Given the description of an element on the screen output the (x, y) to click on. 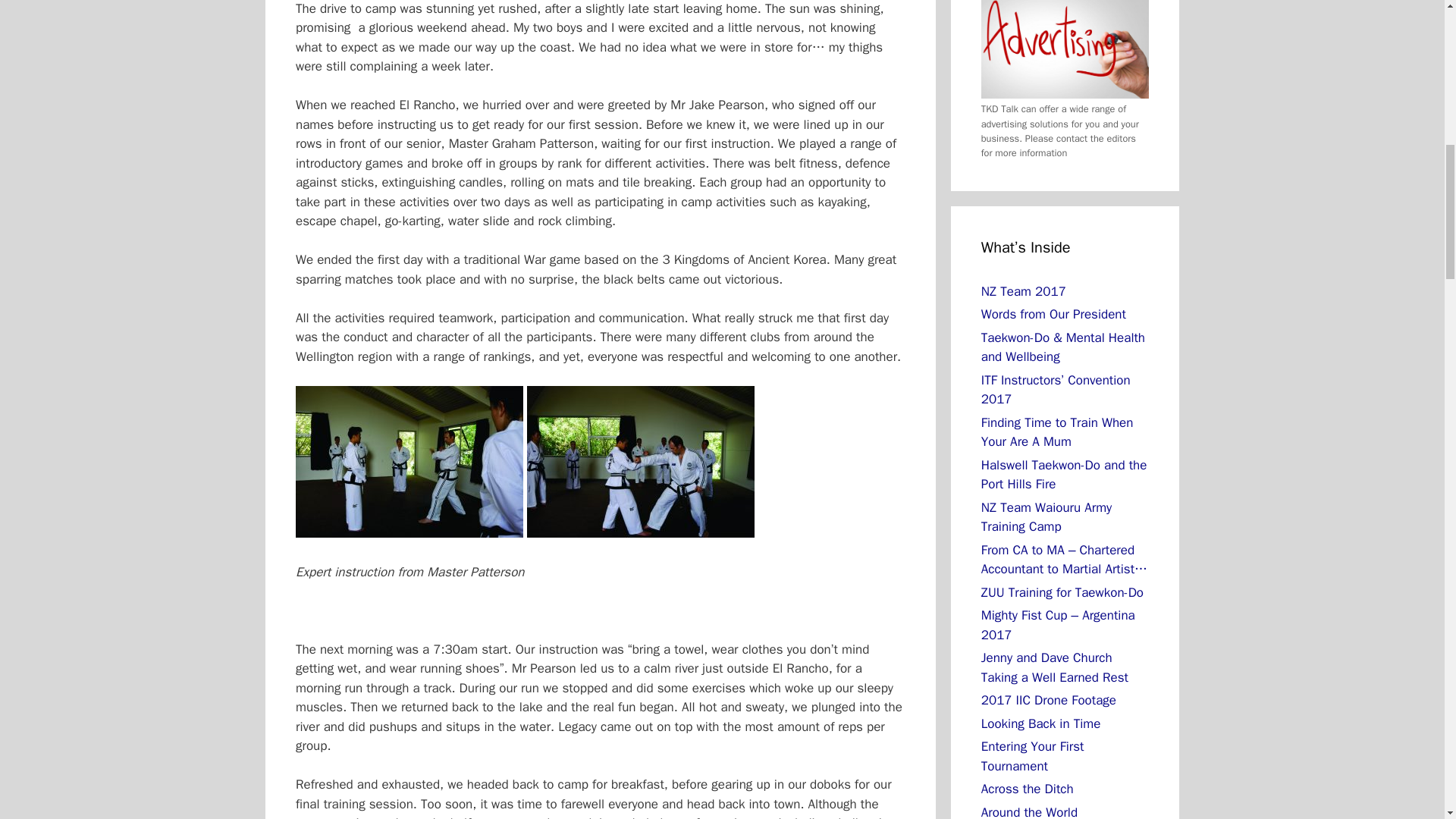
ZUU Training for Taewkon-Do (1061, 592)
Jenny and Dave Church Taking a Well Earned Rest (1054, 667)
Finding Time to Train When Your Are A Mum (1057, 432)
2017 IIC Drone Footage (1048, 700)
Words from Our President (1053, 314)
NZ Team 2017 (1023, 291)
Halswell Taekwon-Do and the Port Hills Fire (1064, 475)
NZ Team Waiouru Army Training Camp (1046, 517)
